Given the description of an element on the screen output the (x, y) to click on. 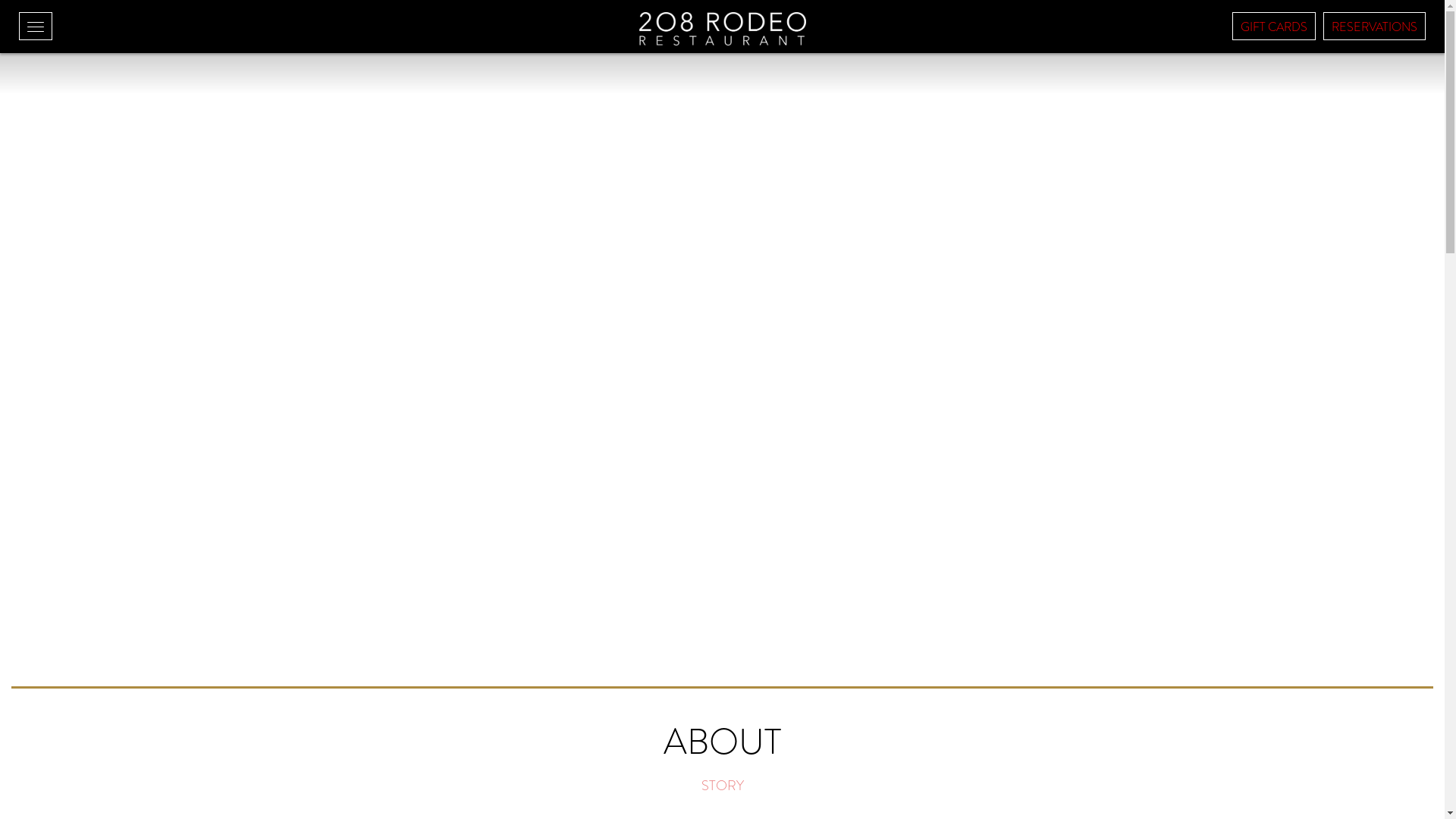
STORY Element type: text (721, 785)
Toggle navigation Element type: text (35, 26)
SKIP TO CONTENT Element type: text (58, 70)
208 Rodeo Element type: hover (721, 28)
RESERVATIONS Element type: text (1374, 26)
GIFT CARDS Element type: text (1273, 26)
